Given the description of an element on the screen output the (x, y) to click on. 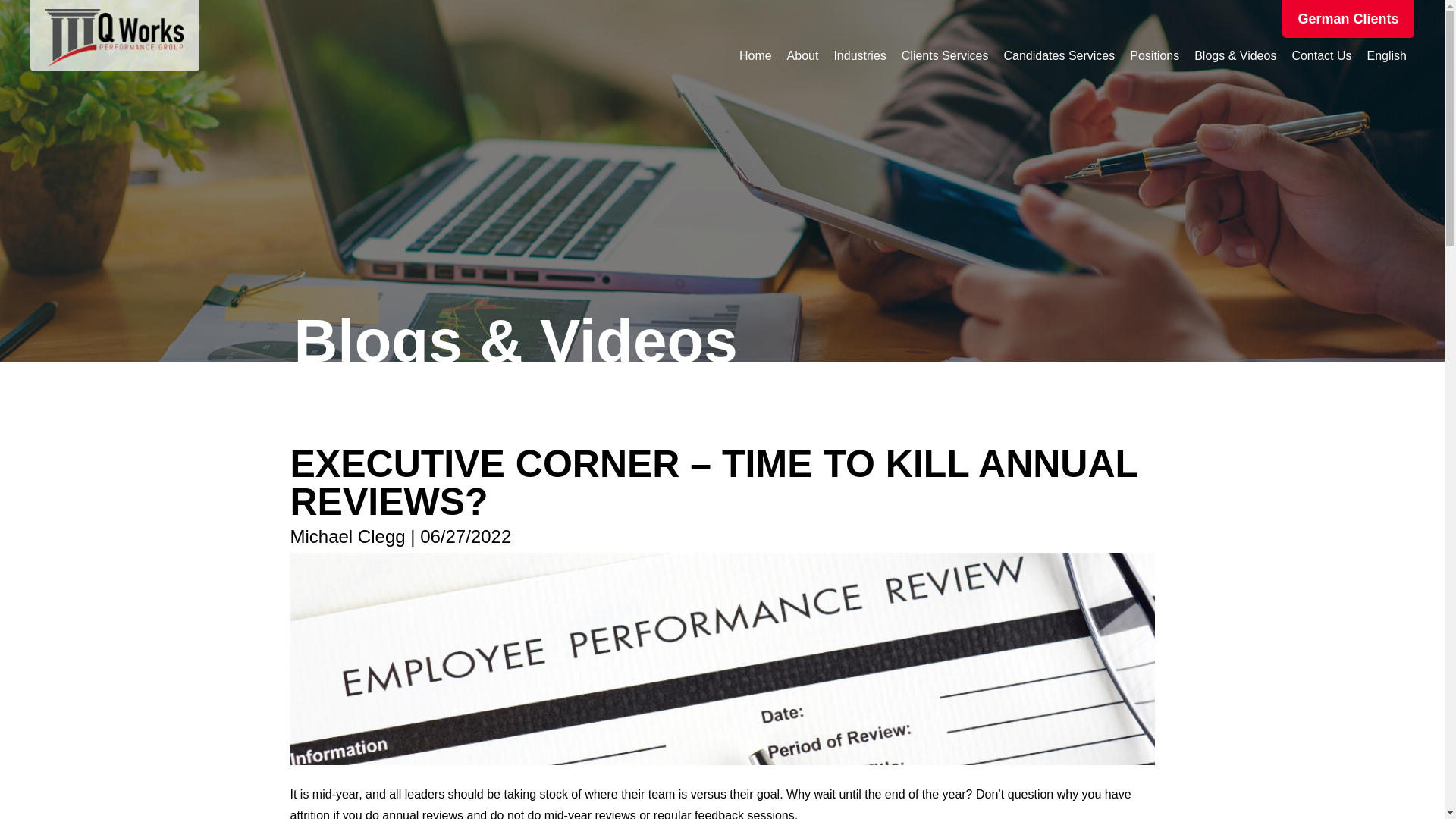
English (1386, 55)
Candidates Services (1058, 55)
About (802, 55)
Clients Services (944, 55)
Industries (859, 55)
Home (755, 55)
English (1386, 55)
Positions (1154, 55)
Contact Us (1321, 55)
German Clients (1347, 18)
